Given the description of an element on the screen output the (x, y) to click on. 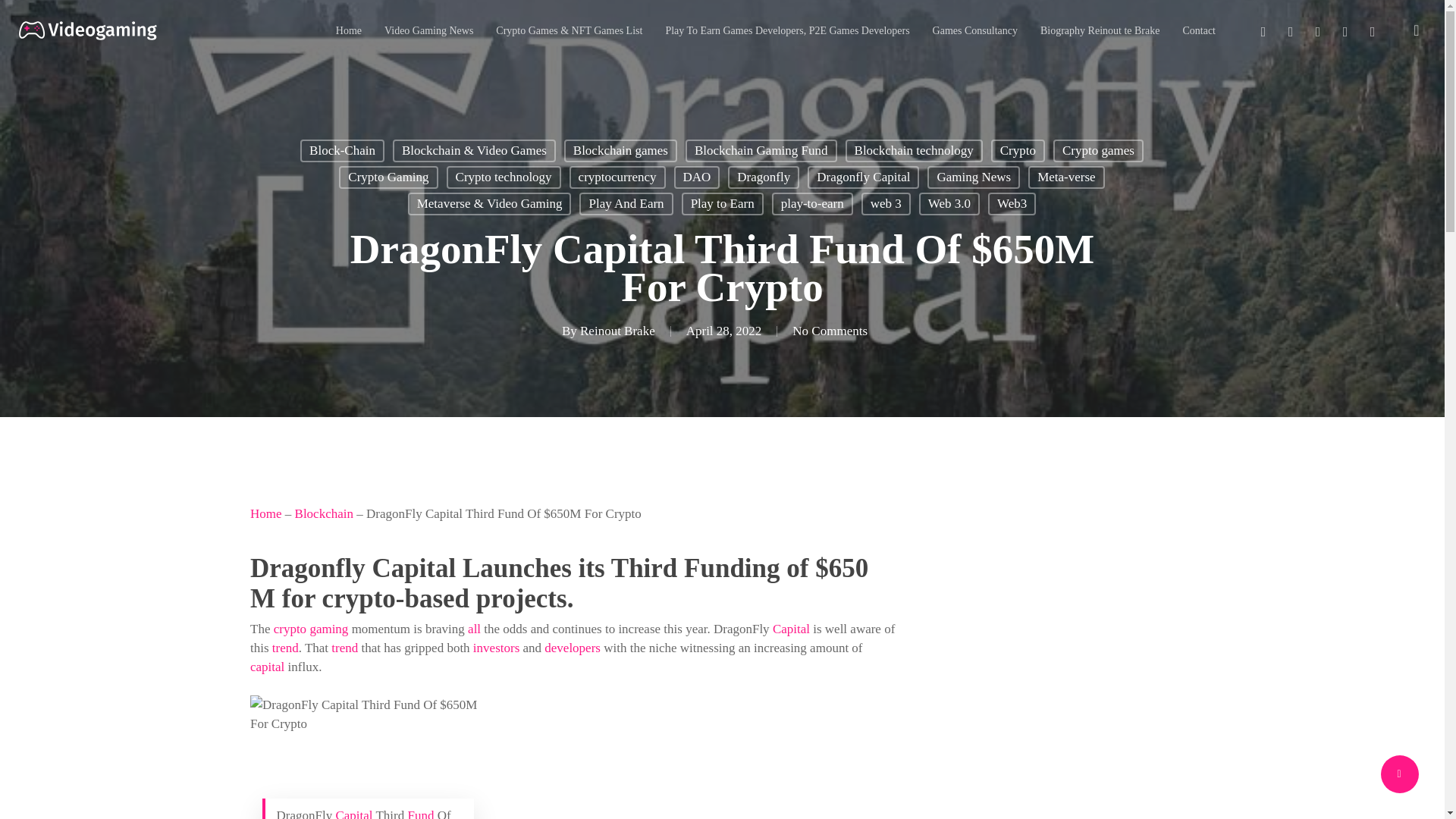
Play To Earn Games Developers, P2E Games Developers (786, 29)
Meta-verse (1065, 177)
Blockchain Gaming Fund (761, 150)
cryptocurrency (617, 177)
Home (348, 29)
twitter (1262, 30)
Block-Chain (341, 150)
Dragonfly (763, 177)
Blockchain technology (913, 150)
search (1416, 30)
